Given the description of an element on the screen output the (x, y) to click on. 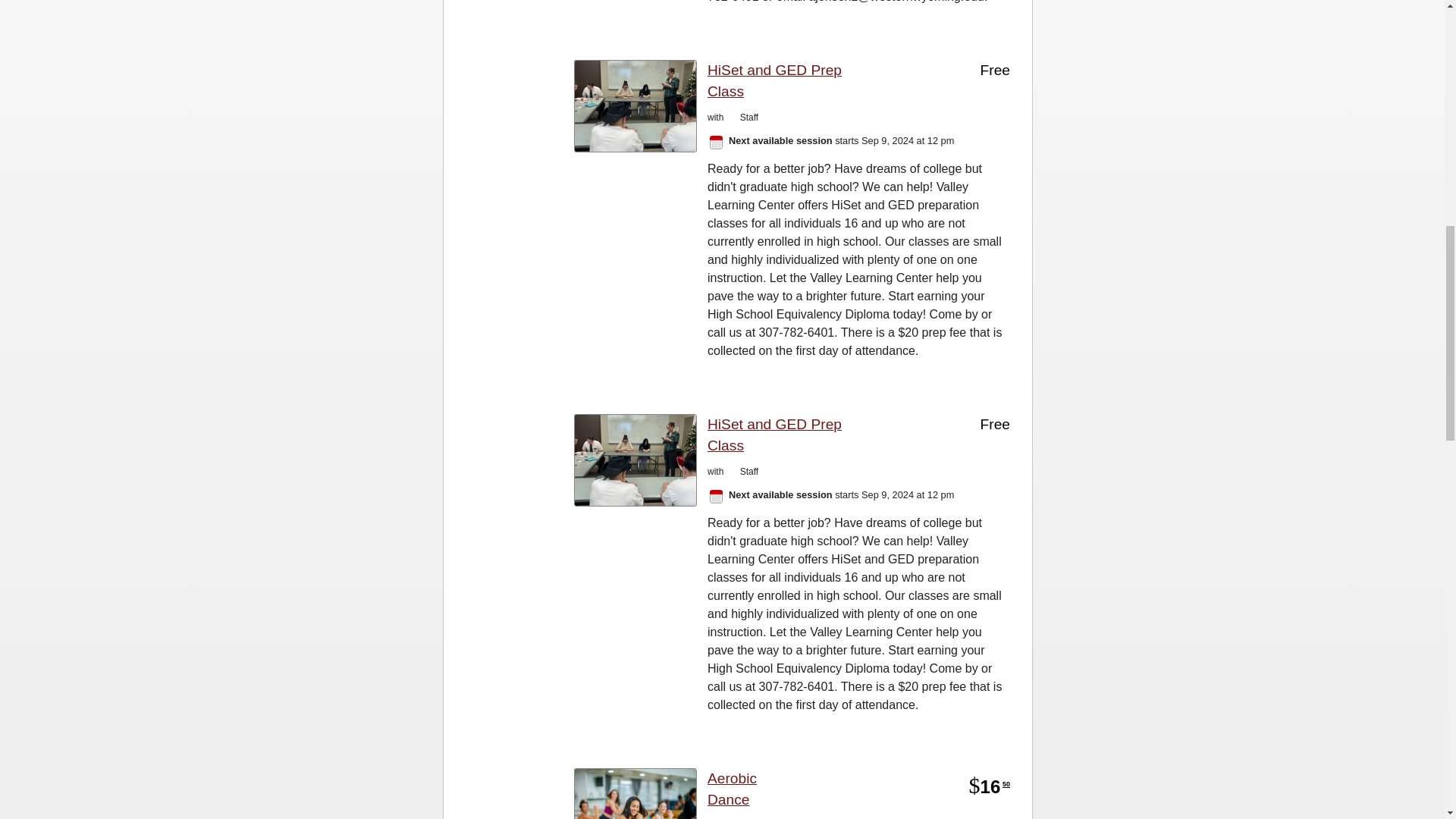
HiSet and GED Prep Class (794, 435)
Aerobic Dance (755, 790)
HiSet and GED Prep Class (794, 81)
